Given the description of an element on the screen output the (x, y) to click on. 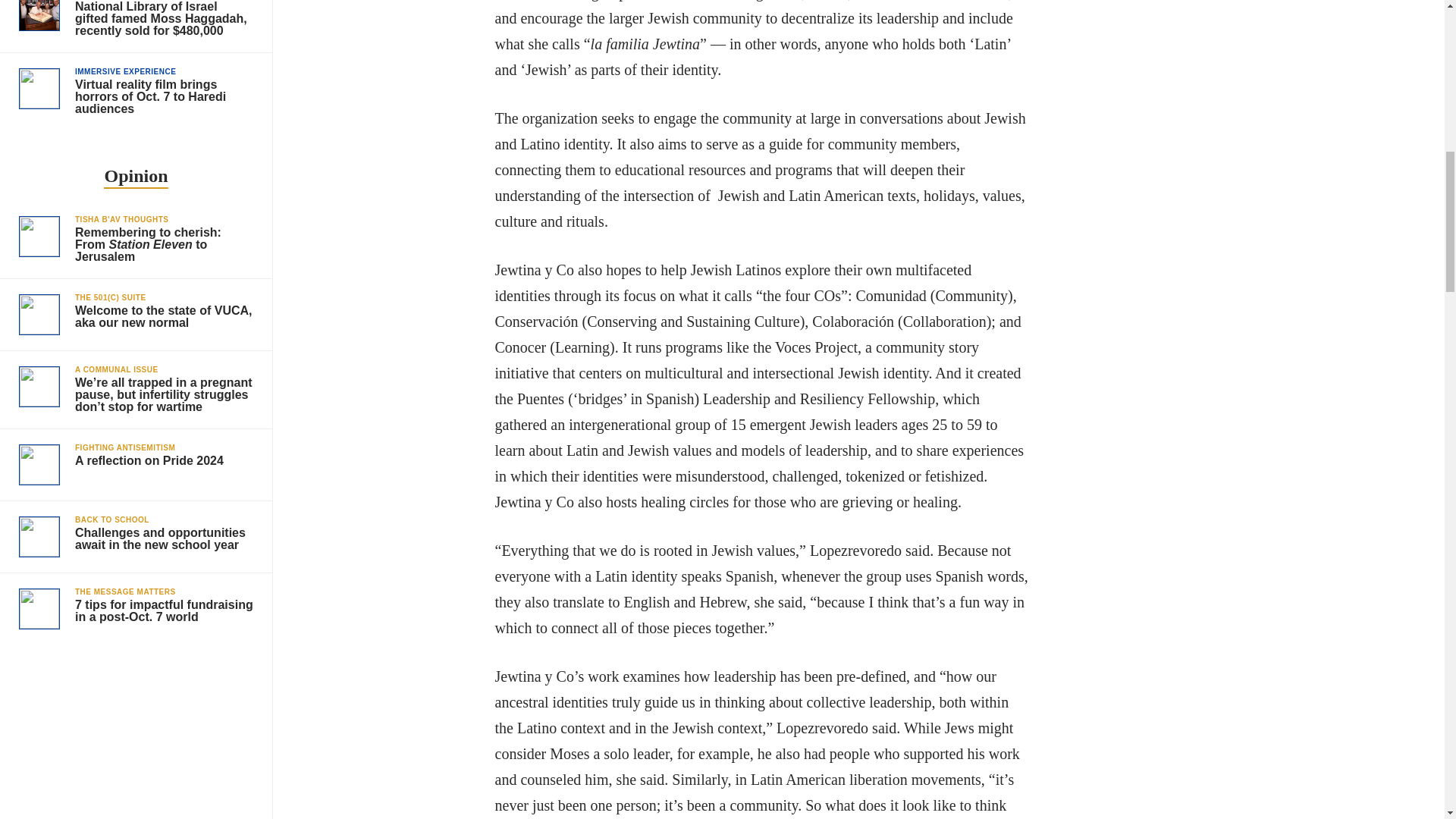
Opinion (135, 178)
